Given the description of an element on the screen output the (x, y) to click on. 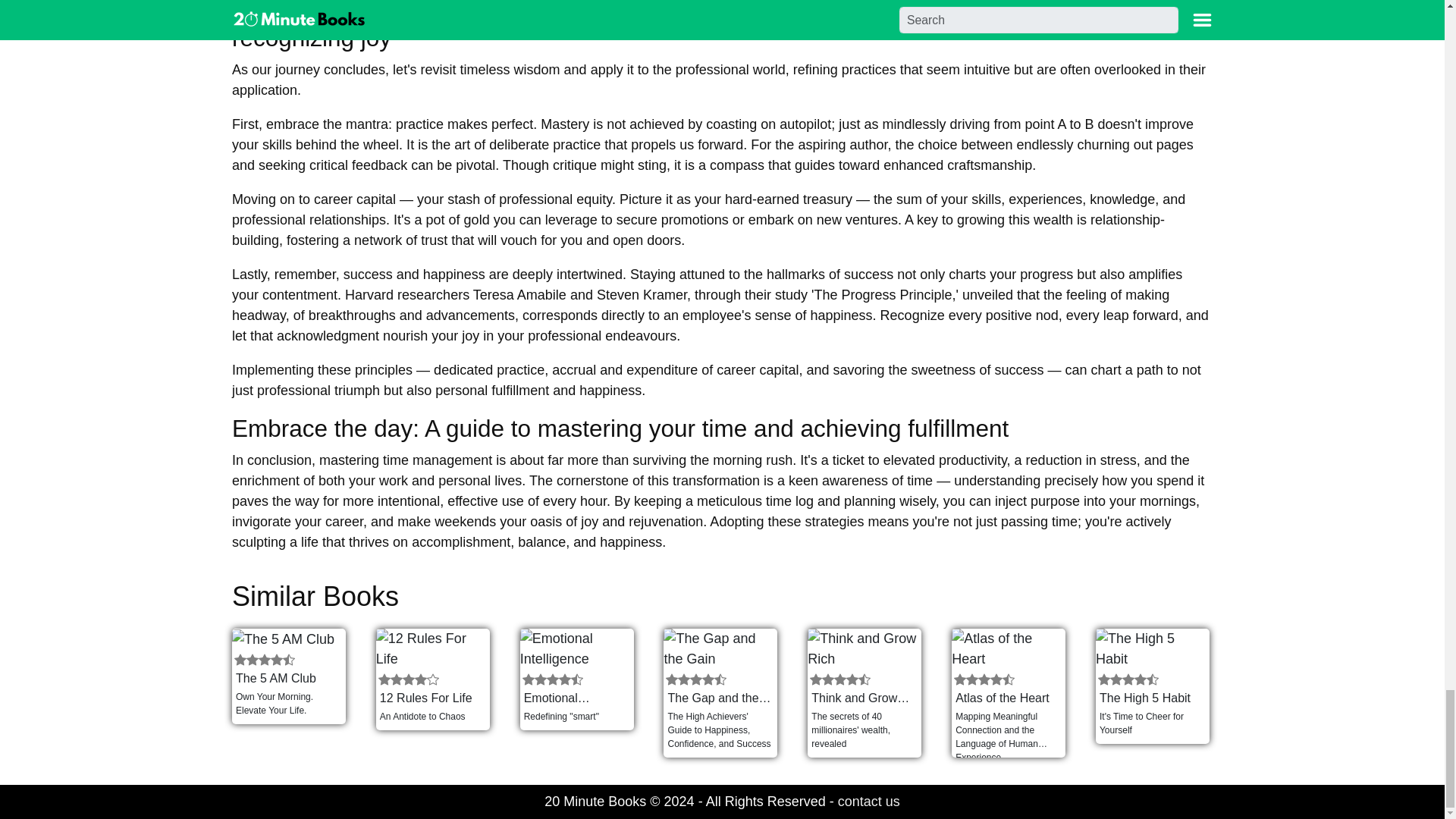
Redefining "smart" (576, 718)
Own Your Morning. Elevate Your Life. (288, 705)
12 Rules For Life (432, 698)
Think and Grow Rich (864, 698)
The Gap and the Gain (720, 698)
It's Time to Cheer for Yourself (1152, 725)
An Antidote to Chaos (432, 718)
Emotional Intelligence (576, 698)
